Given the description of an element on the screen output the (x, y) to click on. 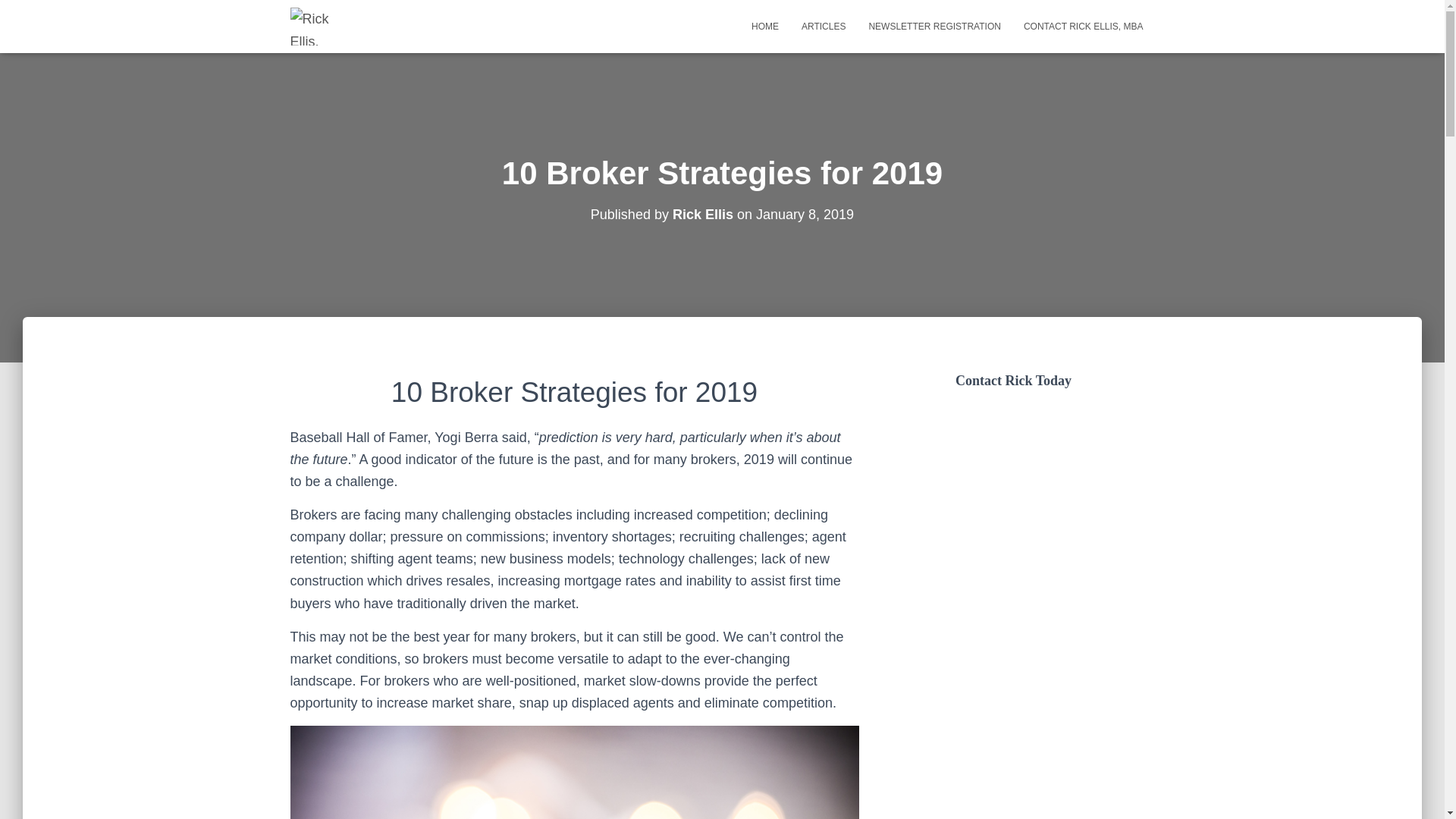
Articles (823, 26)
NEWSLETTER REGISTRATION (934, 26)
Contact Rick Ellis, MBA (1082, 26)
CONTACT RICK ELLIS, MBA (1082, 26)
HOME (764, 26)
ARTICLES (823, 26)
Home (764, 26)
Newsletter Registration (934, 26)
Rick Ellis (702, 214)
